Given the description of an element on the screen output the (x, y) to click on. 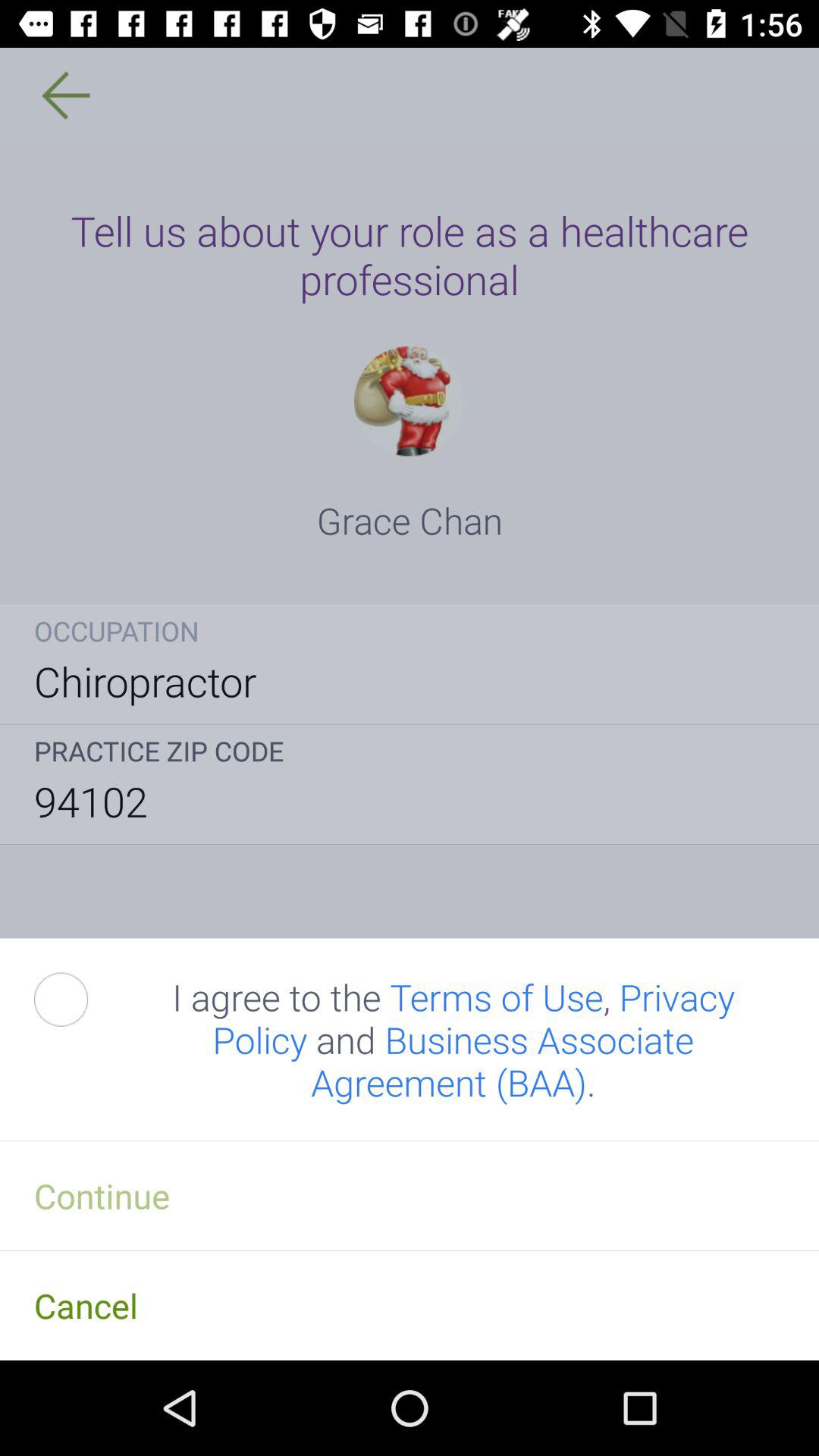
select the icon above the continue item (78, 999)
